Given the description of an element on the screen output the (x, y) to click on. 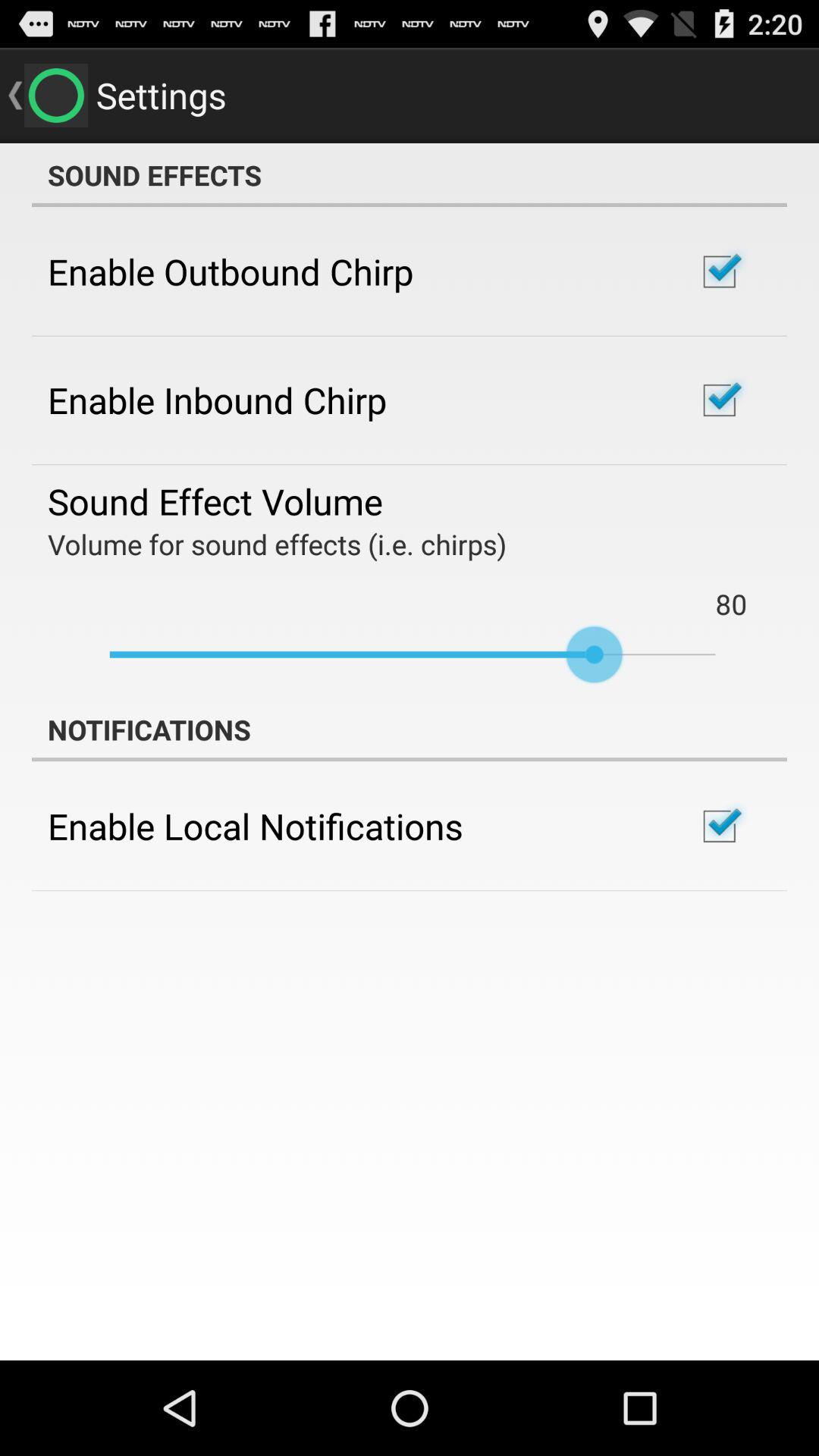
click item above the notifications icon (412, 654)
